Given the description of an element on the screen output the (x, y) to click on. 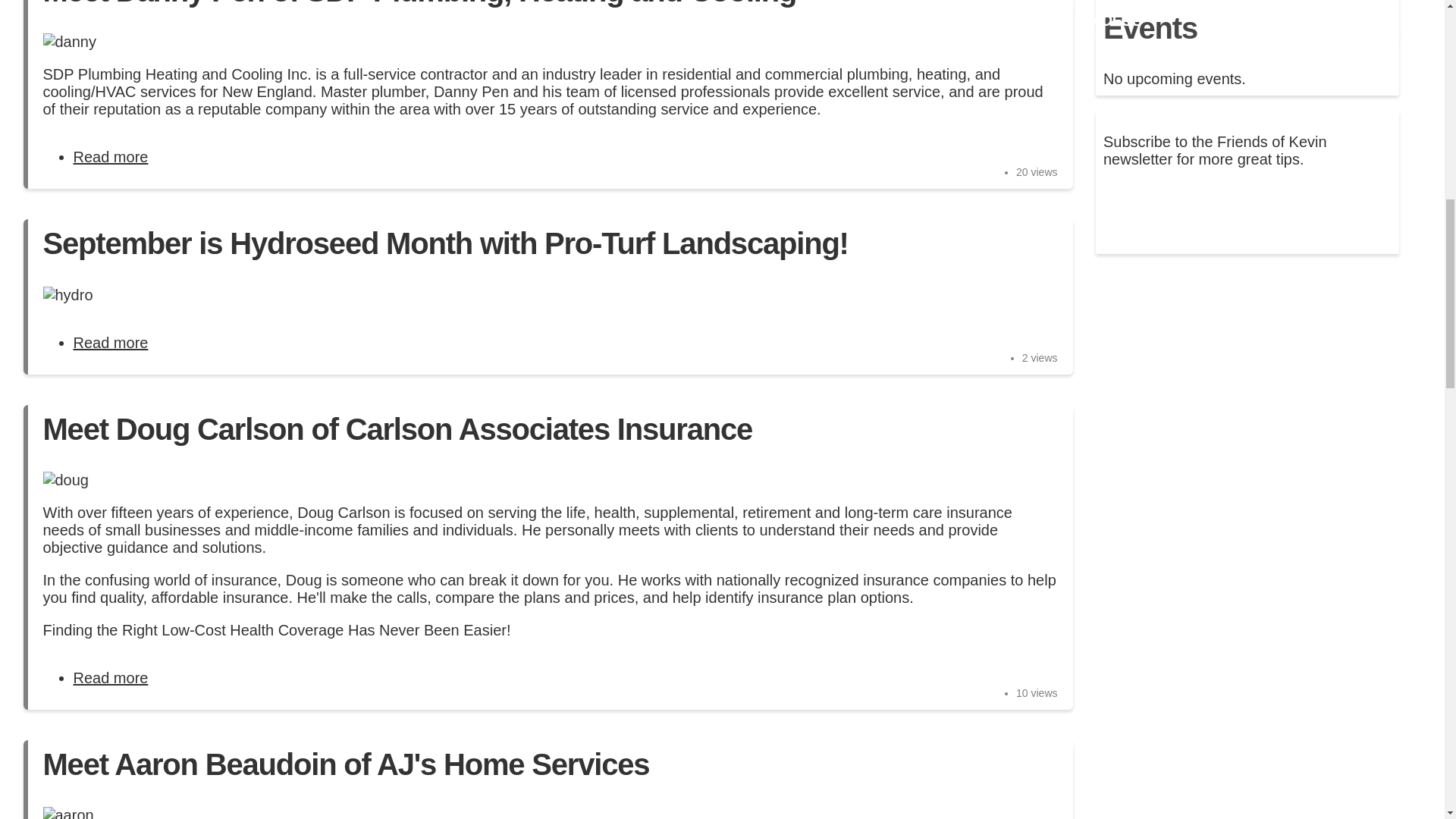
Meet Doug Carlson of Carlson Associates Insurance (110, 677)
hydro (67, 294)
September is Hydroseed Month with Pro-Turf Landscaping! (444, 243)
danny (69, 41)
aaron (67, 812)
Meet Doug Carlson of Carlson Associates Insurance (397, 428)
Meet Aaron Beaudoin of AJ's Home Services (345, 764)
Meet Danny Pen of SDP Plumbing, Heating and Cooling (110, 156)
September is Hydroseed Month with Pro-Turf Landscaping! (110, 342)
